Given the description of an element on the screen output the (x, y) to click on. 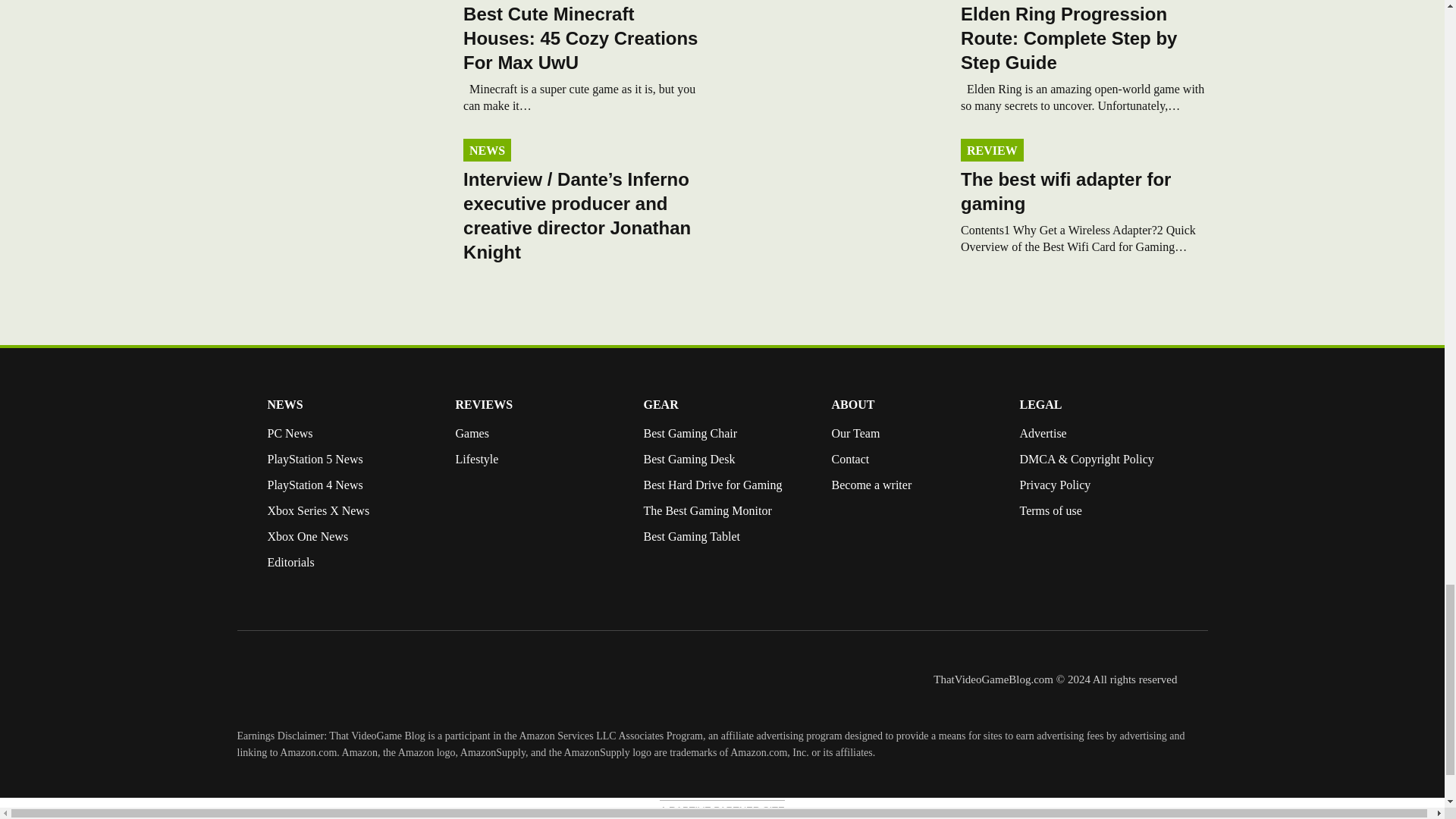
DMCA.com Protection Program (1049, 572)
